Given the description of an element on the screen output the (x, y) to click on. 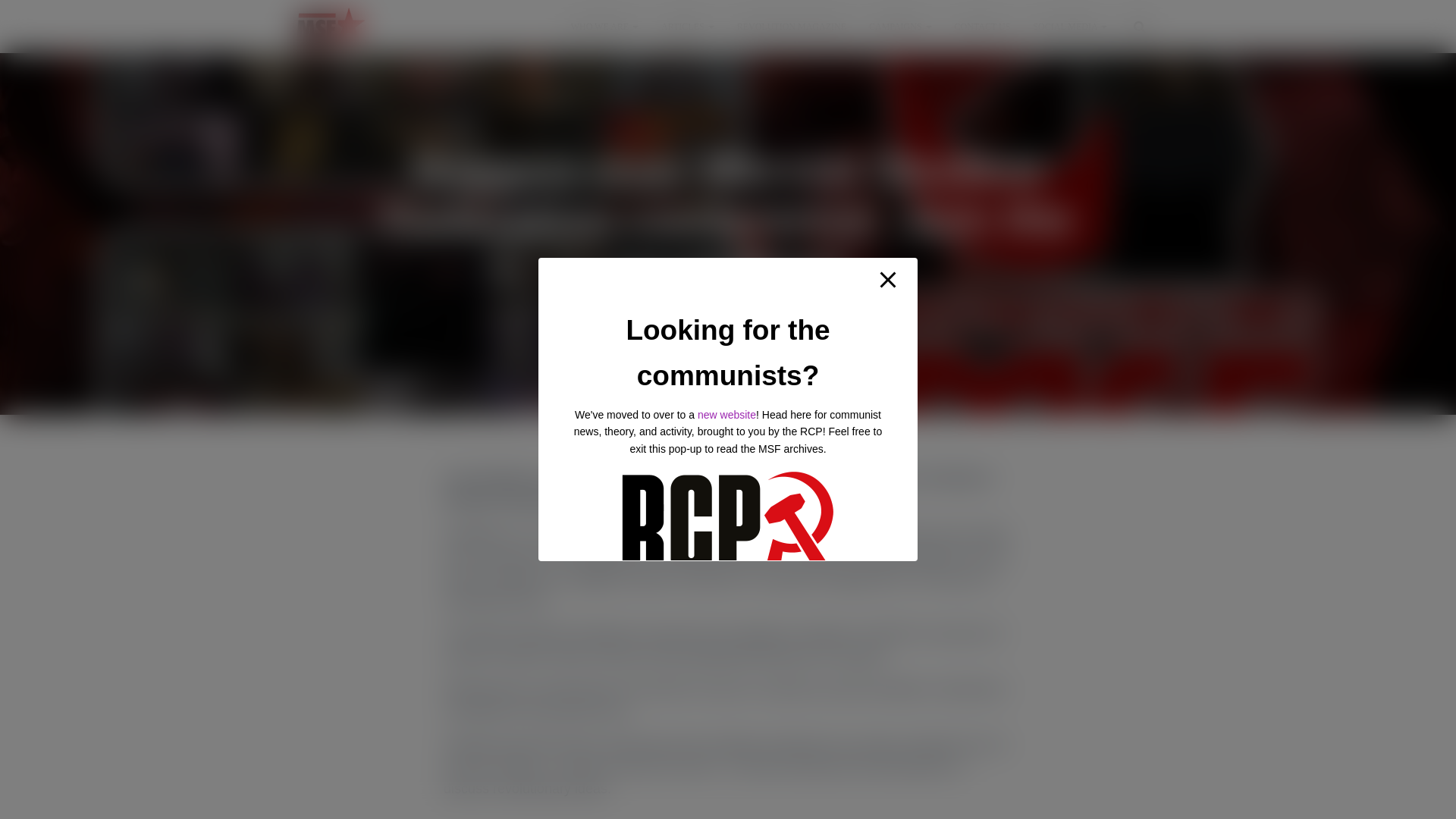
CAMPAIGNS (900, 26)
SOCIAL MEDIA (1070, 26)
Articles (687, 26)
WHO WE ARE (604, 26)
REVOLUTION MAGAZINE (791, 26)
Who we are (604, 26)
ARTICLES (687, 26)
Marxist Student Federation (330, 26)
CONTACT US (982, 26)
